Given the description of an element on the screen output the (x, y) to click on. 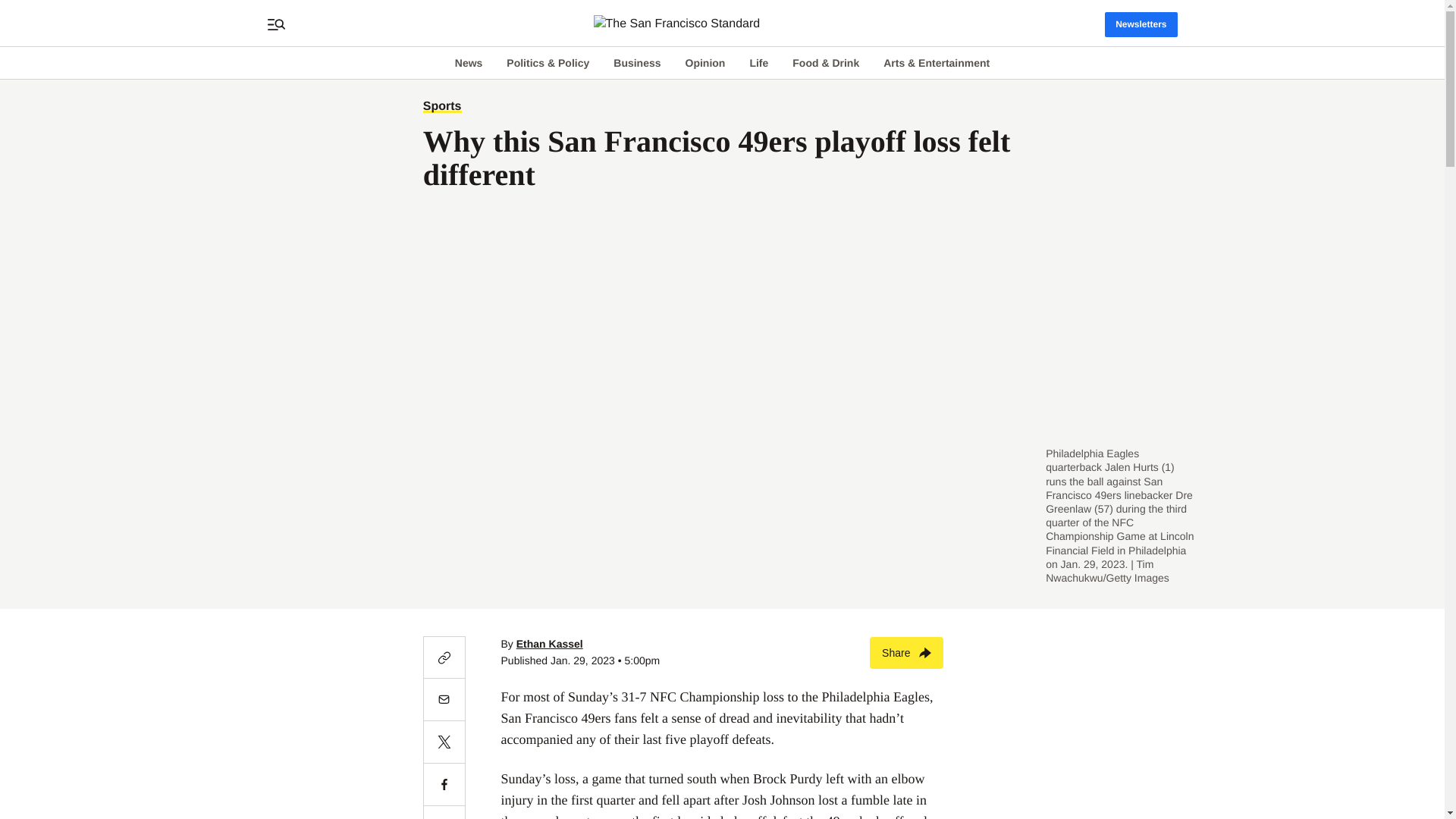
Life (758, 62)
Share (906, 653)
Copy link to this article (444, 657)
News (468, 62)
Ethan Kassel (549, 644)
Business (636, 62)
Opinion (705, 62)
Sports (442, 106)
Open search bar and full menu (275, 24)
Newsletters (1140, 24)
